Given the description of an element on the screen output the (x, y) to click on. 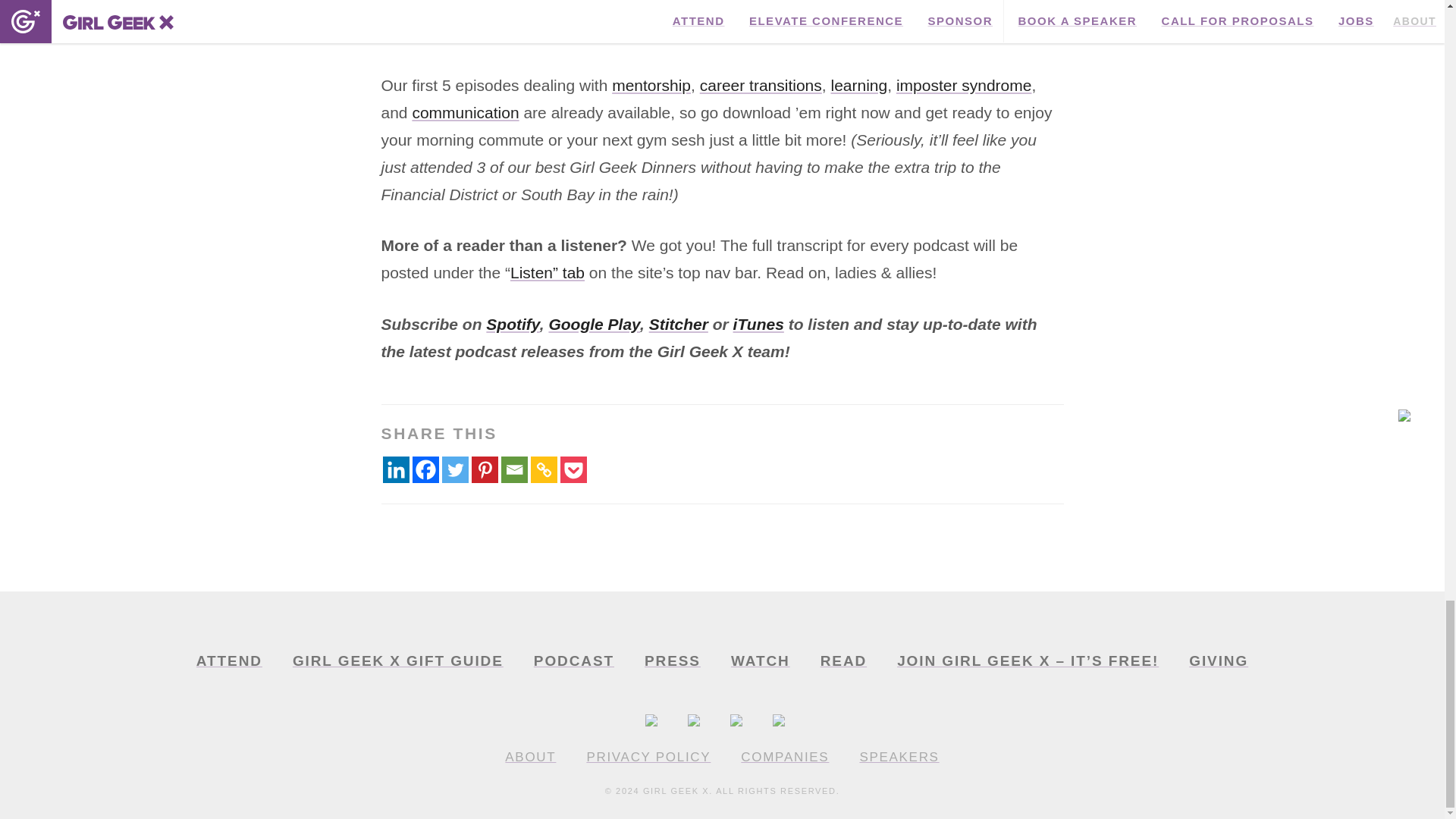
PRESS (672, 660)
WATCH (760, 660)
Stitcher (678, 323)
Linkedin (395, 469)
Pinterest (484, 469)
READ (843, 660)
communication (465, 112)
GIRL GEEK X GIFT GUIDE (398, 660)
Facebook (425, 469)
Twitter (454, 469)
career transitions (761, 85)
ATTEND (229, 660)
Google Play (594, 323)
iTunes (758, 323)
learning (857, 85)
